Given the description of an element on the screen output the (x, y) to click on. 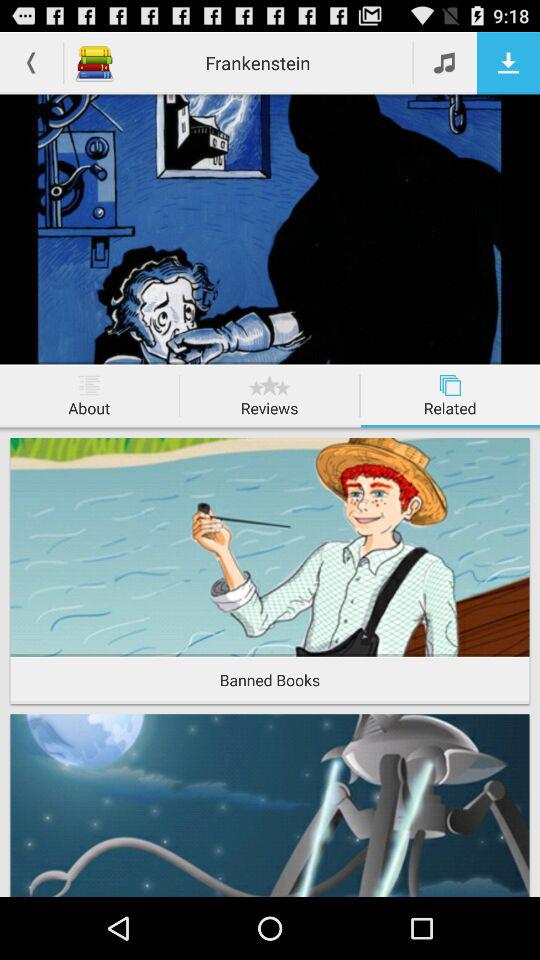
music (445, 62)
